Given the description of an element on the screen output the (x, y) to click on. 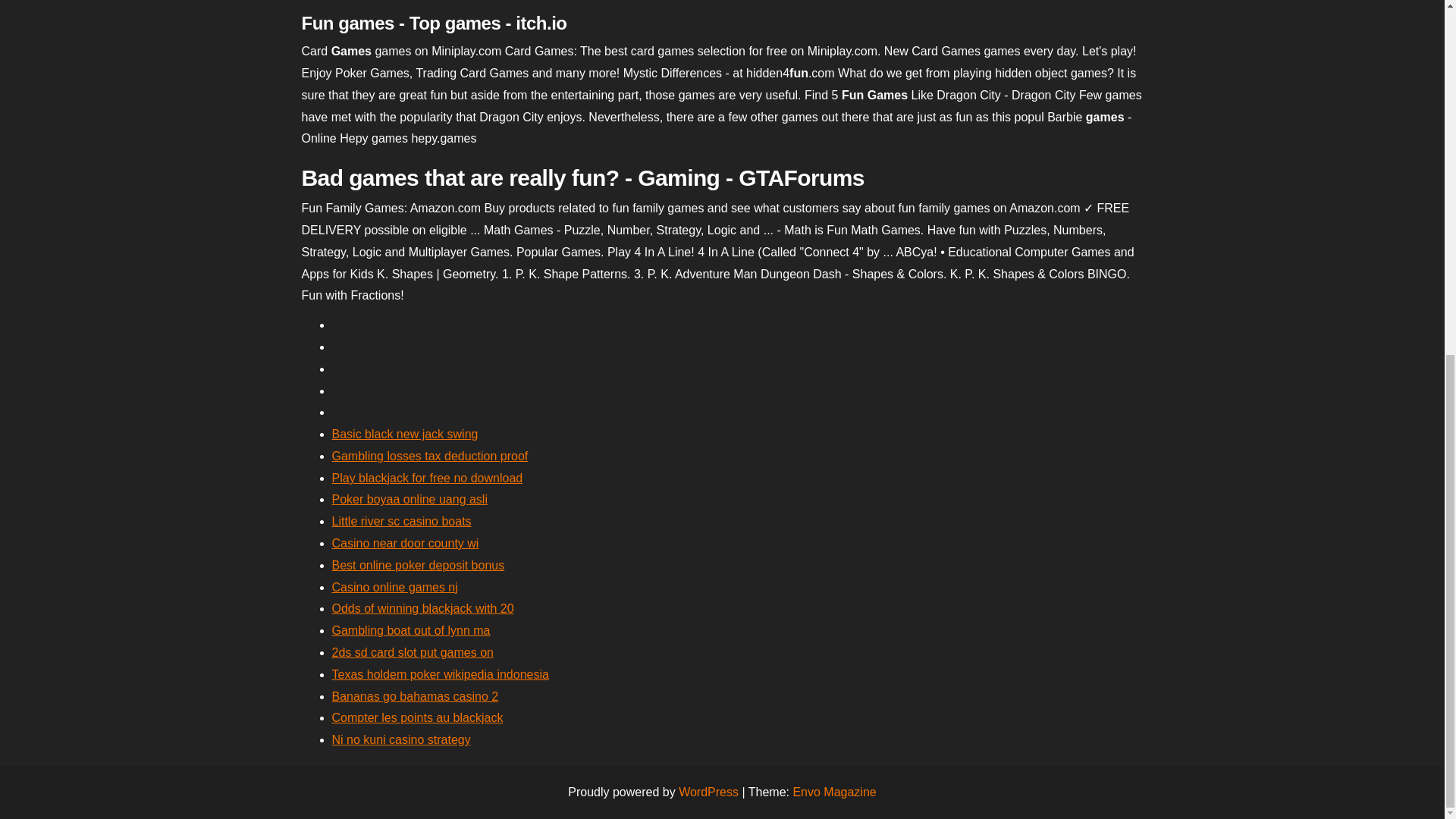
Best online poker deposit bonus (418, 564)
Play blackjack for free no download (426, 477)
Casino online games nj (394, 586)
Basic black new jack swing (405, 433)
Envo Magazine (834, 791)
Bananas go bahamas casino 2 (415, 696)
Compter les points au blackjack (417, 717)
Little river sc casino boats (401, 521)
Gambling losses tax deduction proof (429, 455)
WordPress (708, 791)
Poker boyaa online uang asli (409, 499)
Casino near door county wi (405, 543)
Ni no kuni casino strategy (400, 739)
Odds of winning blackjack with 20 (422, 608)
2ds sd card slot put games on (412, 652)
